Given the description of an element on the screen output the (x, y) to click on. 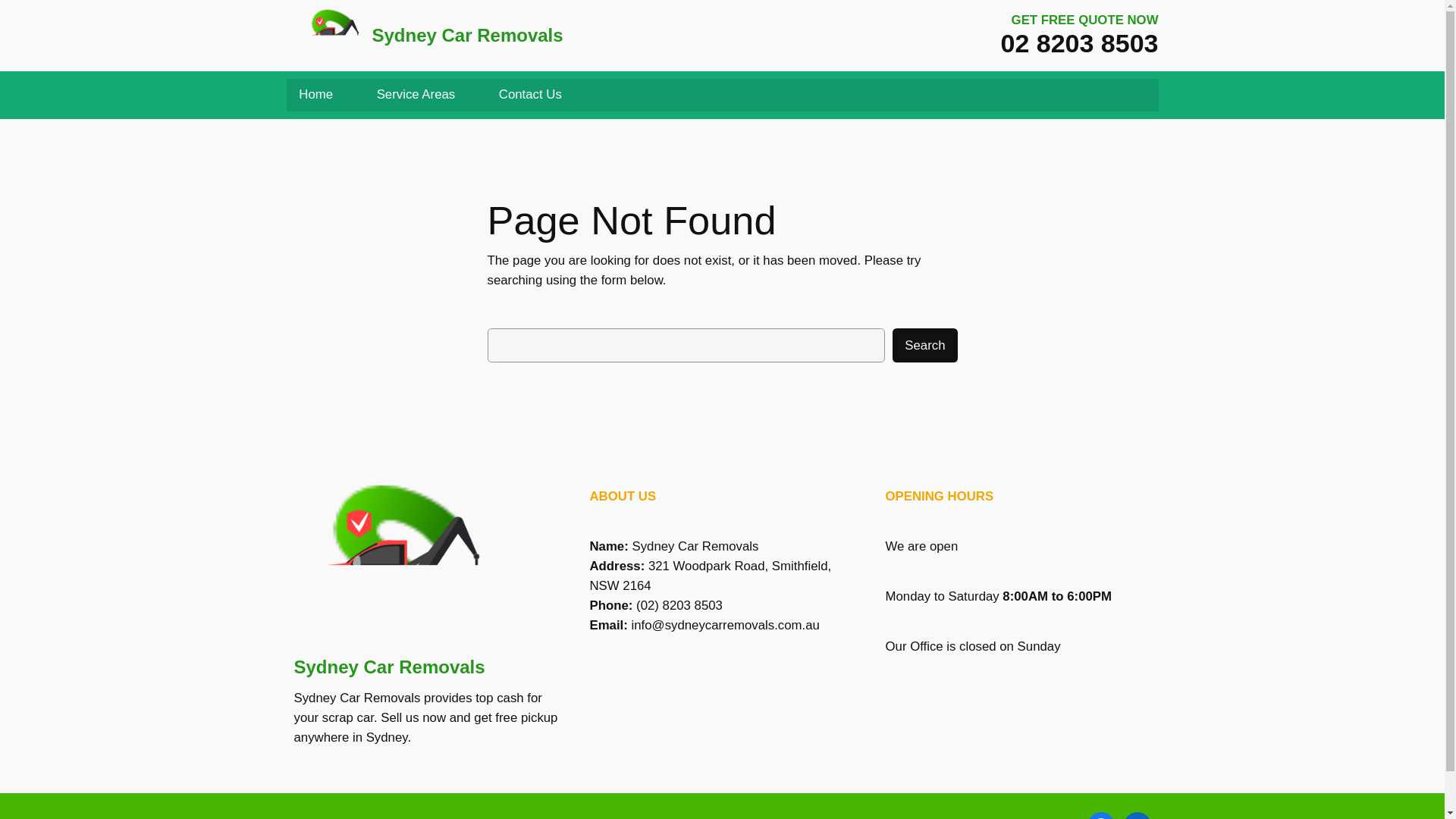
Home (316, 94)
Service Areas (415, 94)
Sydney Car Removals (389, 666)
LinkedIn (1137, 815)
02 8203 8503 (1079, 42)
Contact Us (530, 94)
Facebook (1101, 815)
Search (924, 345)
Sydney Car Removals (466, 35)
